Given the description of an element on the screen output the (x, y) to click on. 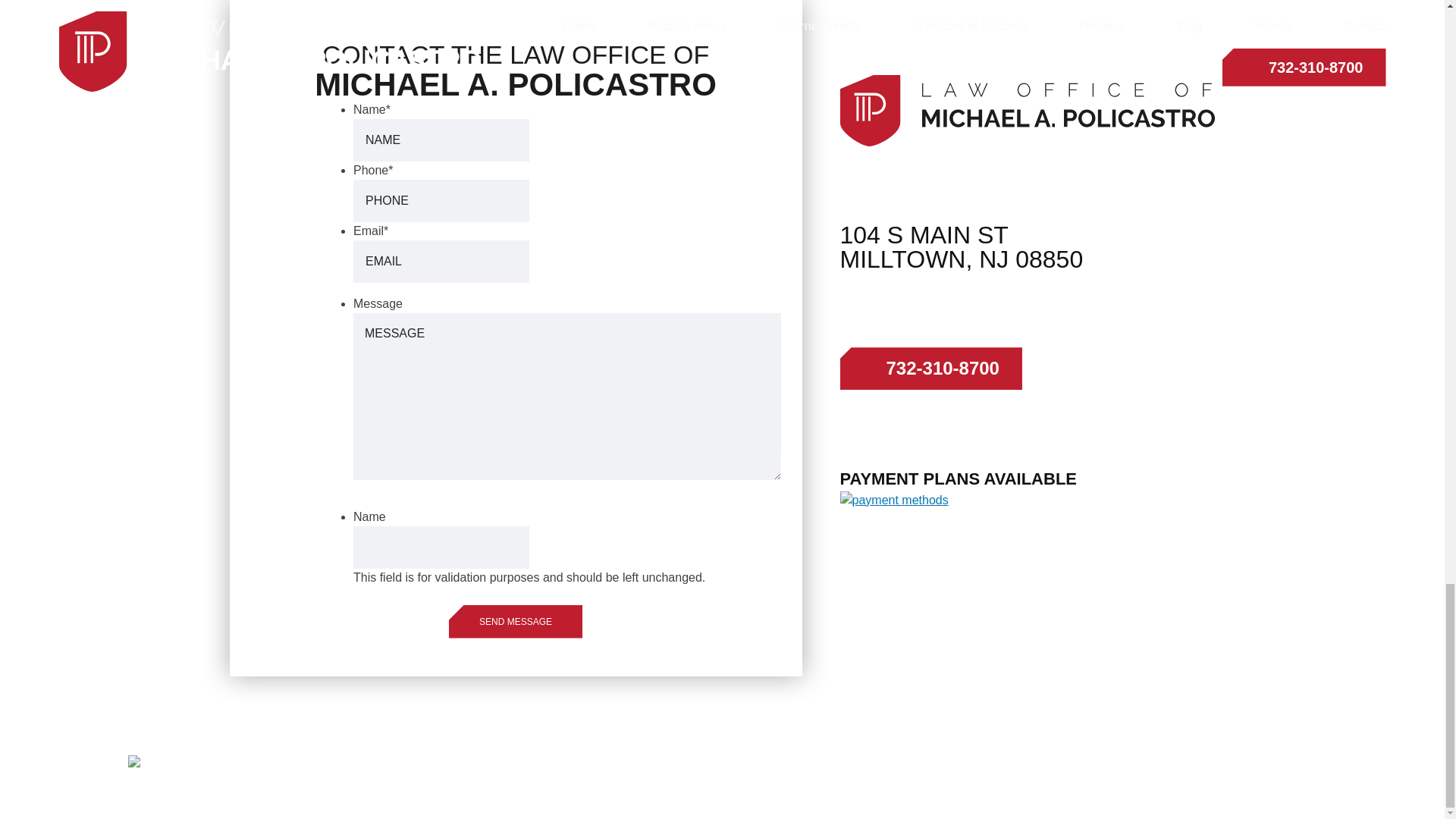
Send Message (515, 621)
